Given the description of an element on the screen output the (x, y) to click on. 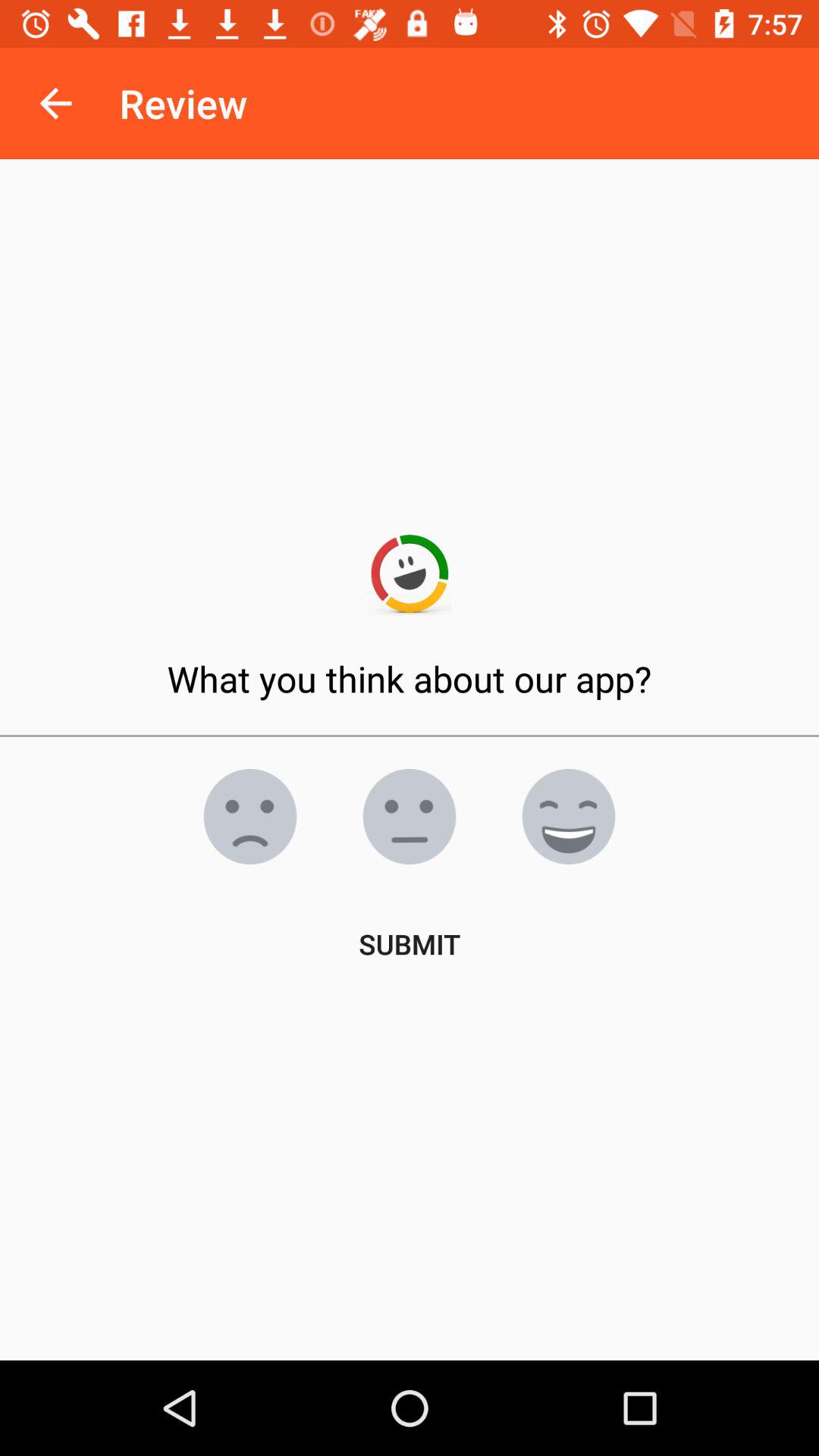
neutral rating (409, 816)
